Given the description of an element on the screen output the (x, y) to click on. 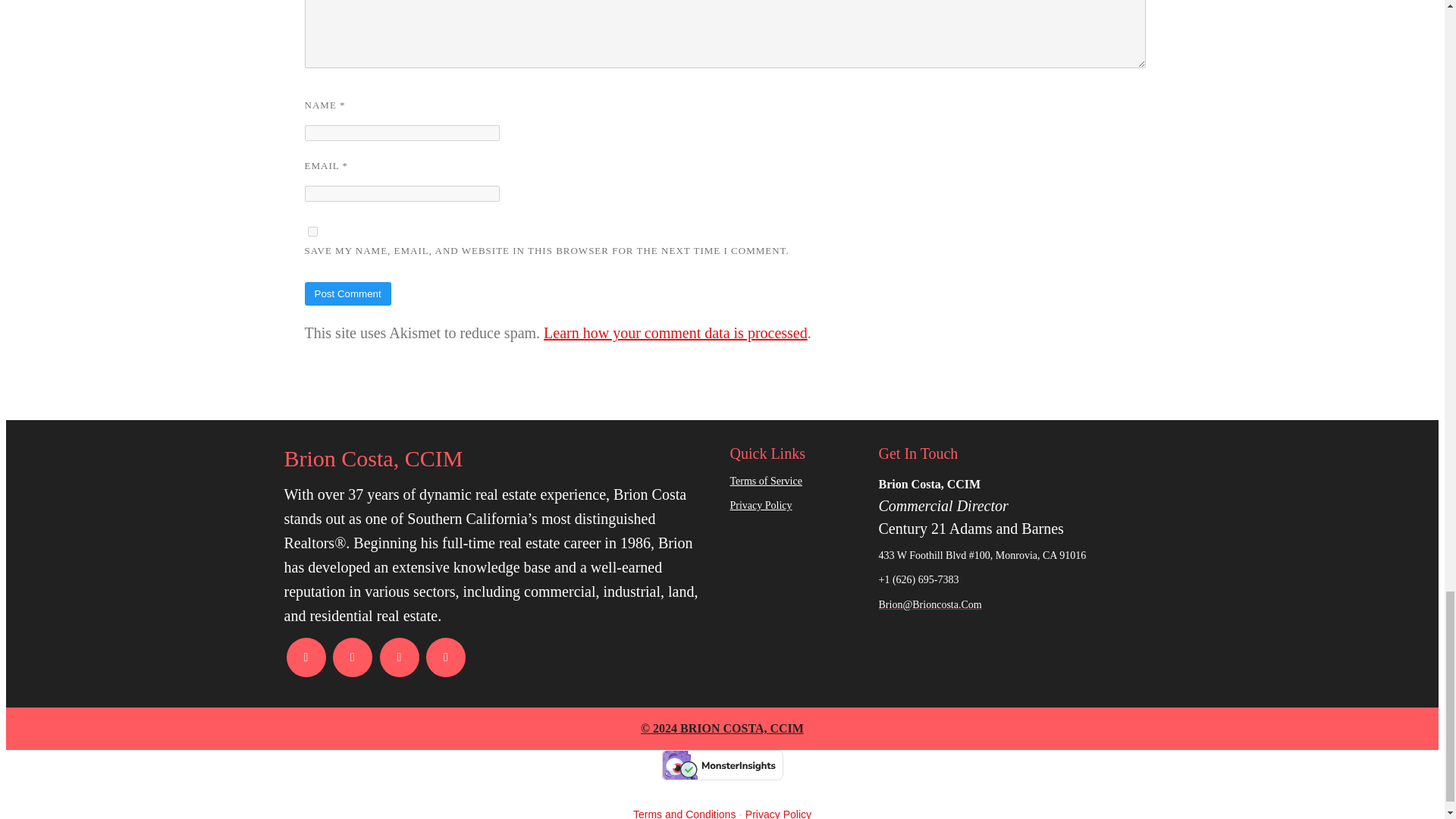
Brion Costa, CCIM (498, 459)
Verified by MonsterInsights (722, 765)
Privacy Policy (796, 505)
Learn how your comment data is processed (675, 332)
yes (312, 231)
Post Comment (347, 293)
Post Comment (347, 293)
Terms of Service (796, 481)
